Given the description of an element on the screen output the (x, y) to click on. 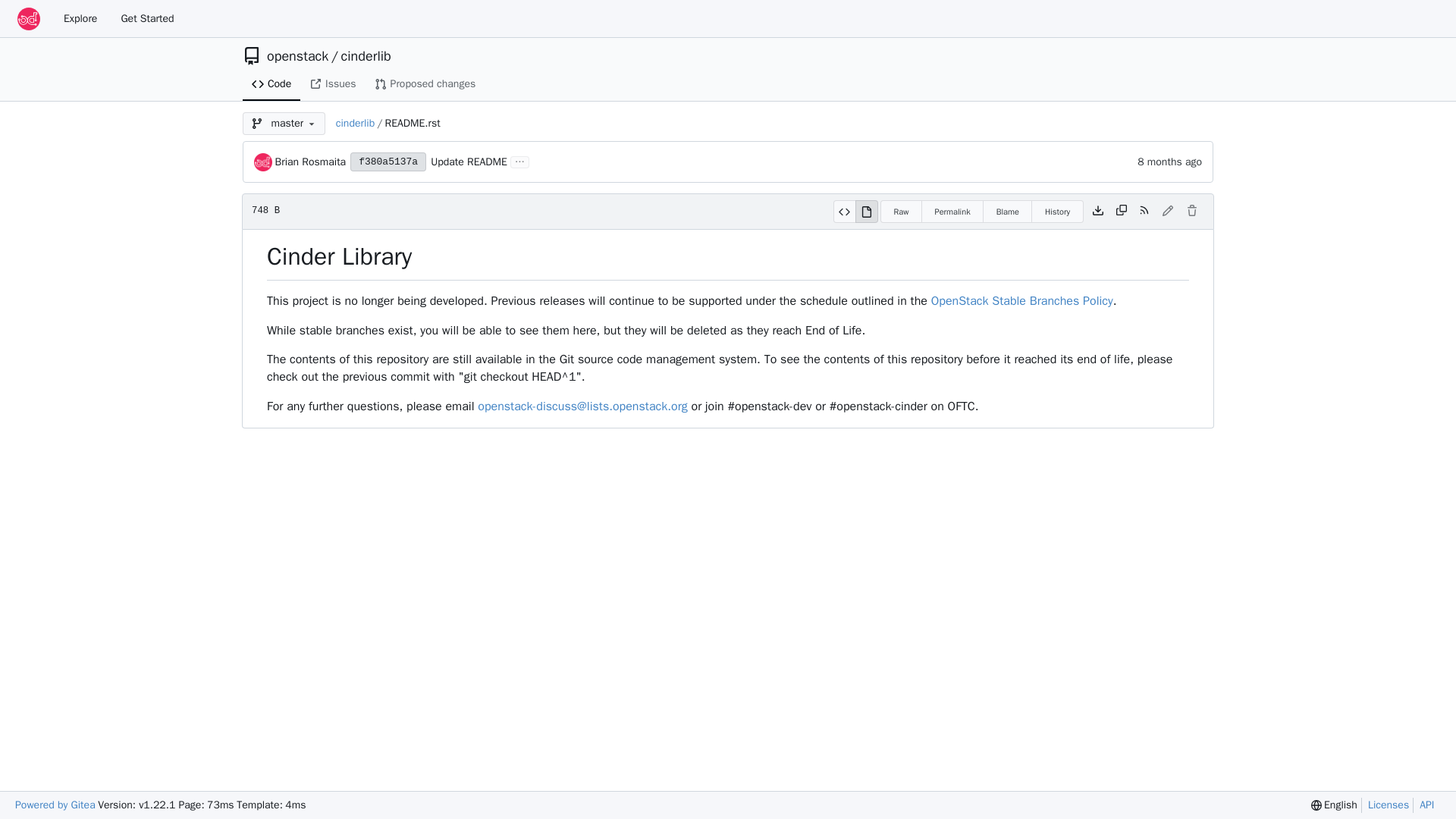
README.rst (411, 123)
Proposed changes (424, 83)
Raw (900, 210)
Update README (468, 161)
History (1056, 210)
Explore (79, 17)
cinderlib (355, 123)
Powered by Gitea (55, 805)
cinderlib (365, 55)
f380a5137a (388, 161)
